Given the description of an element on the screen output the (x, y) to click on. 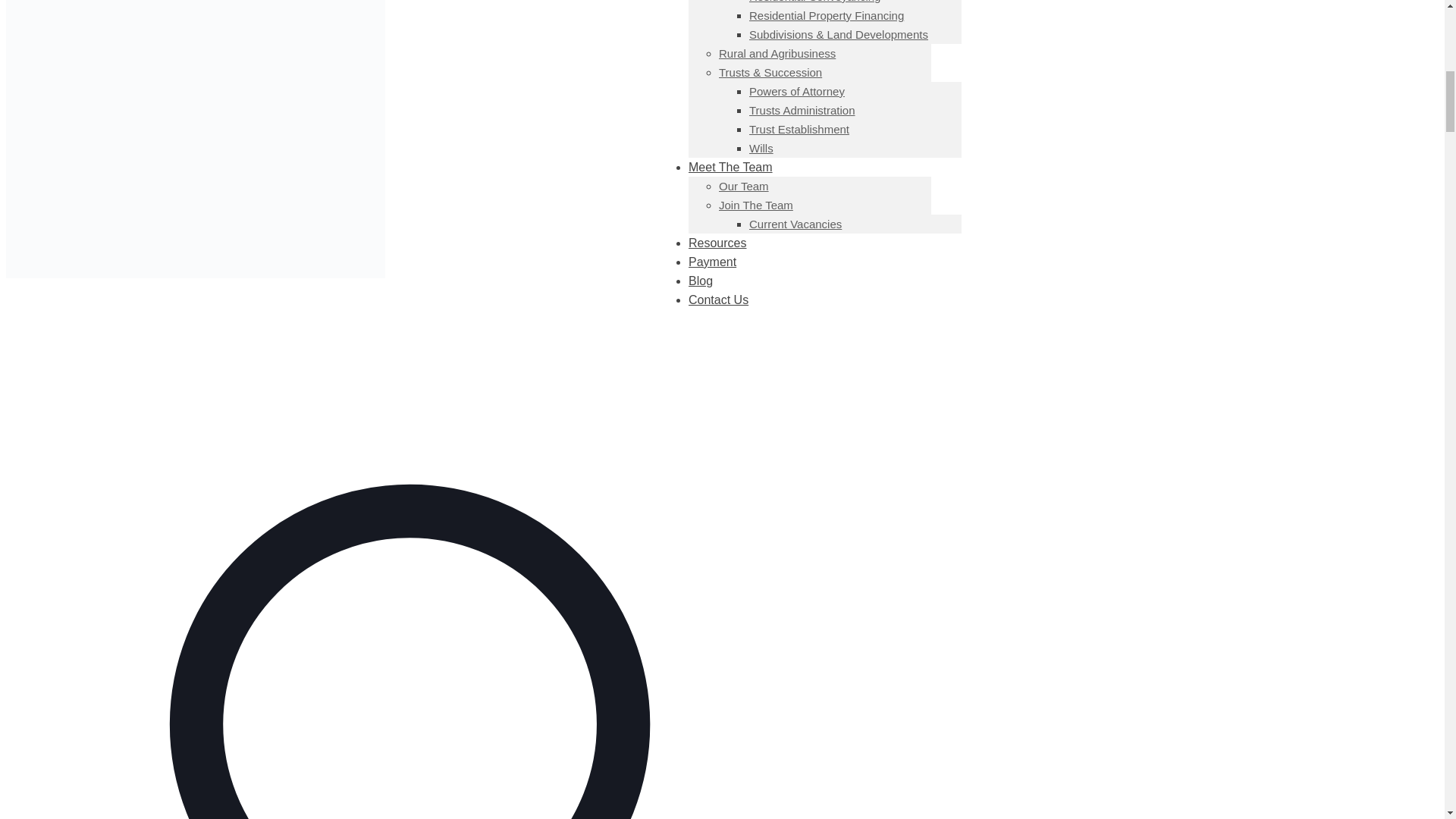
Residential Conveyancing (814, 1)
Rural and Agribusiness (777, 52)
Residential Property Financing (826, 15)
